Given the description of an element on the screen output the (x, y) to click on. 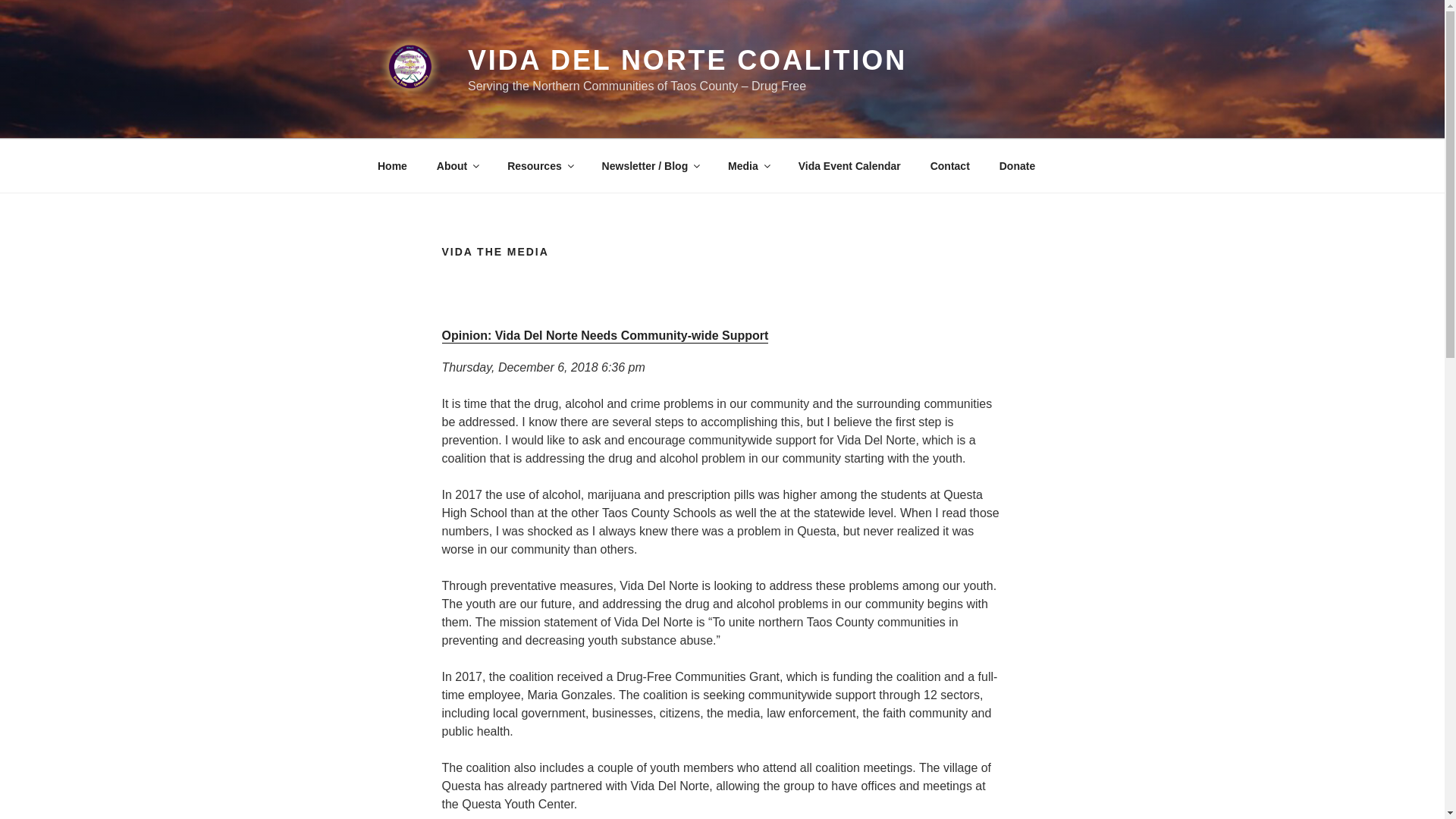
Opinion: Vida Del Norte Needs Community-wide Support (604, 333)
Resources (540, 165)
VIDA DEL NORTE COALITION (687, 60)
Donate (1016, 165)
Media (748, 165)
About (456, 165)
Vida Event Calendar (849, 165)
Home (392, 165)
Contact (949, 165)
